Given the description of an element on the screen output the (x, y) to click on. 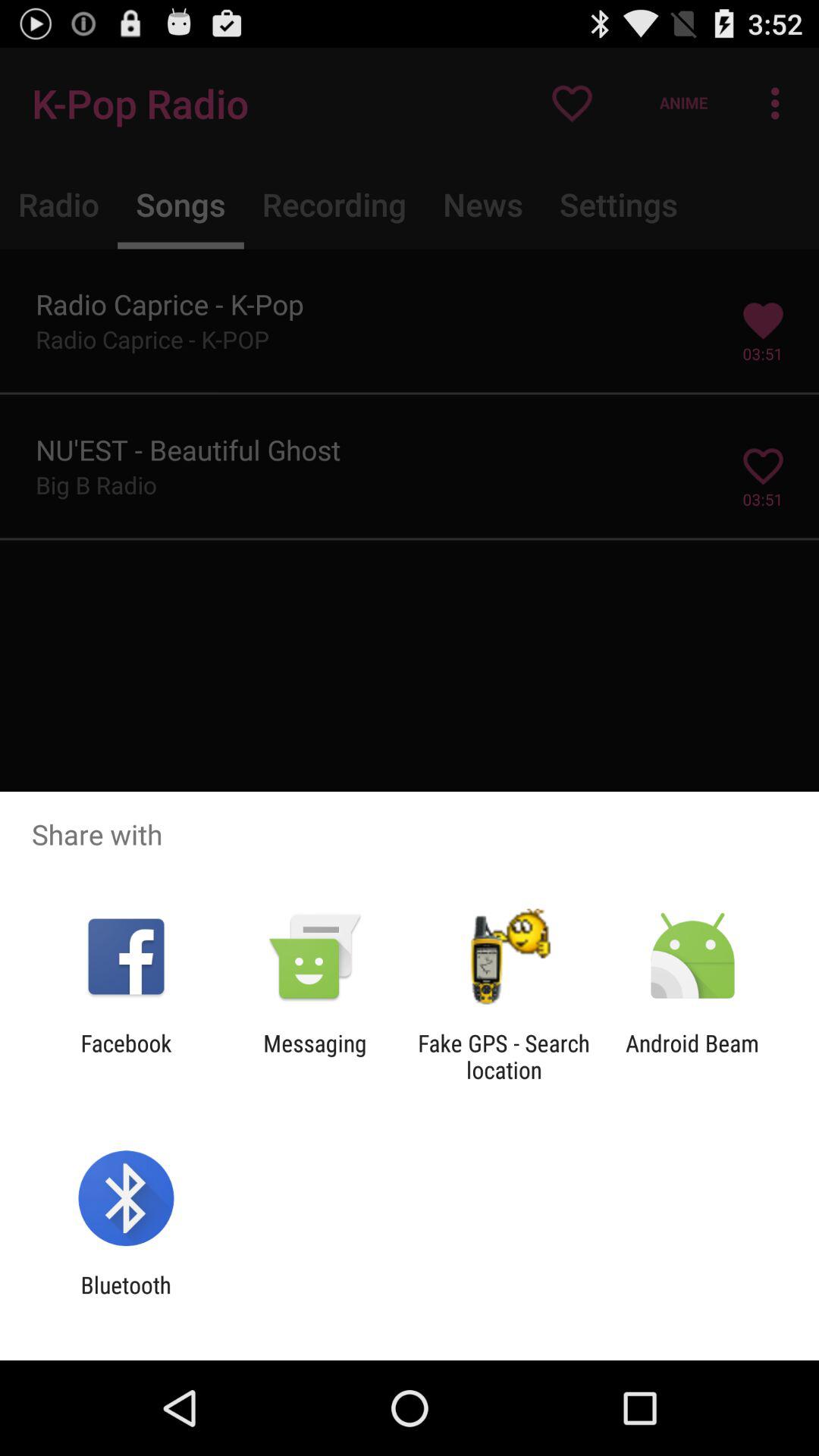
select app to the right of messaging (503, 1056)
